Given the description of an element on the screen output the (x, y) to click on. 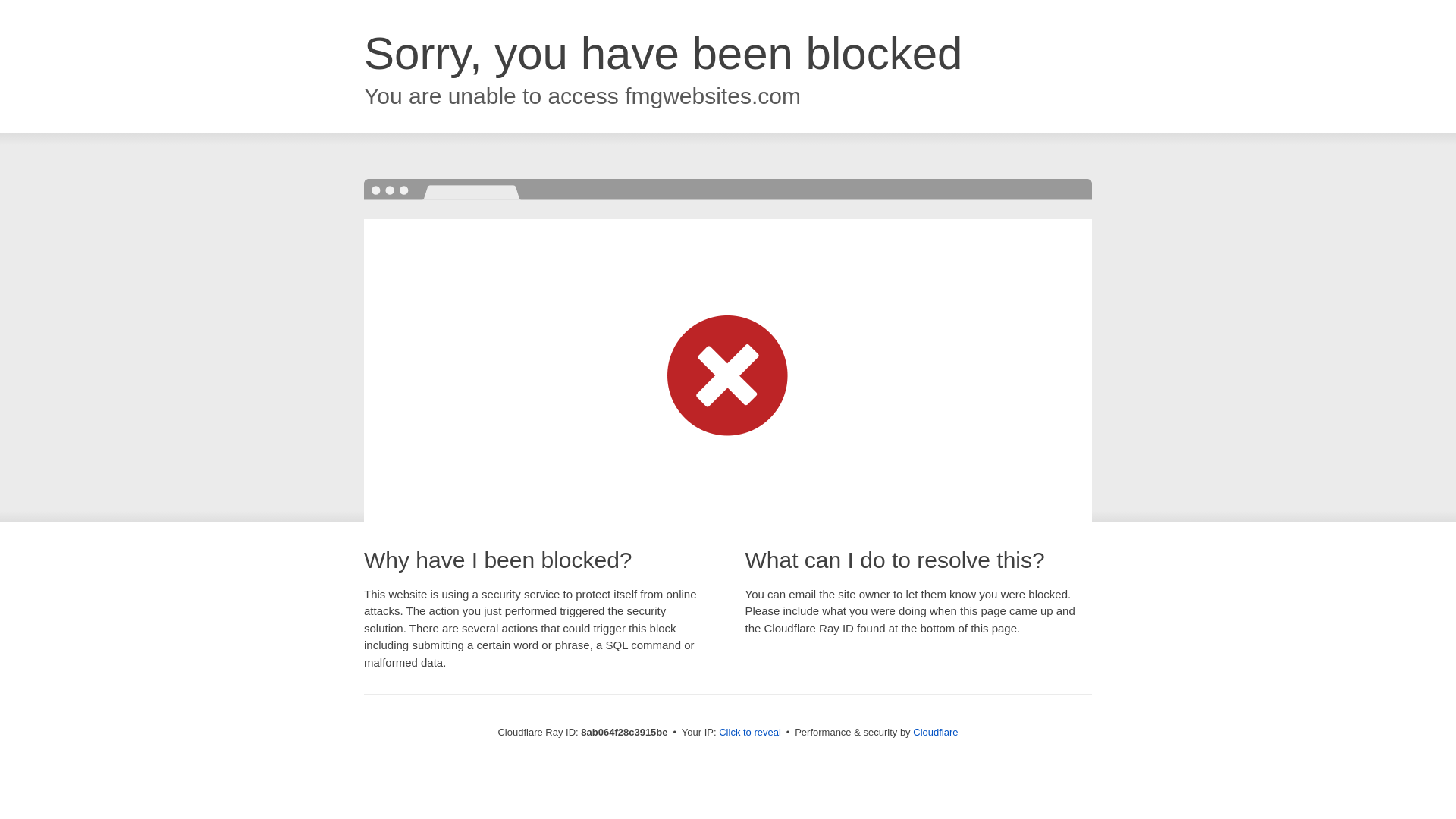
Cloudflare (935, 731)
Click to reveal (749, 732)
